Given the description of an element on the screen output the (x, y) to click on. 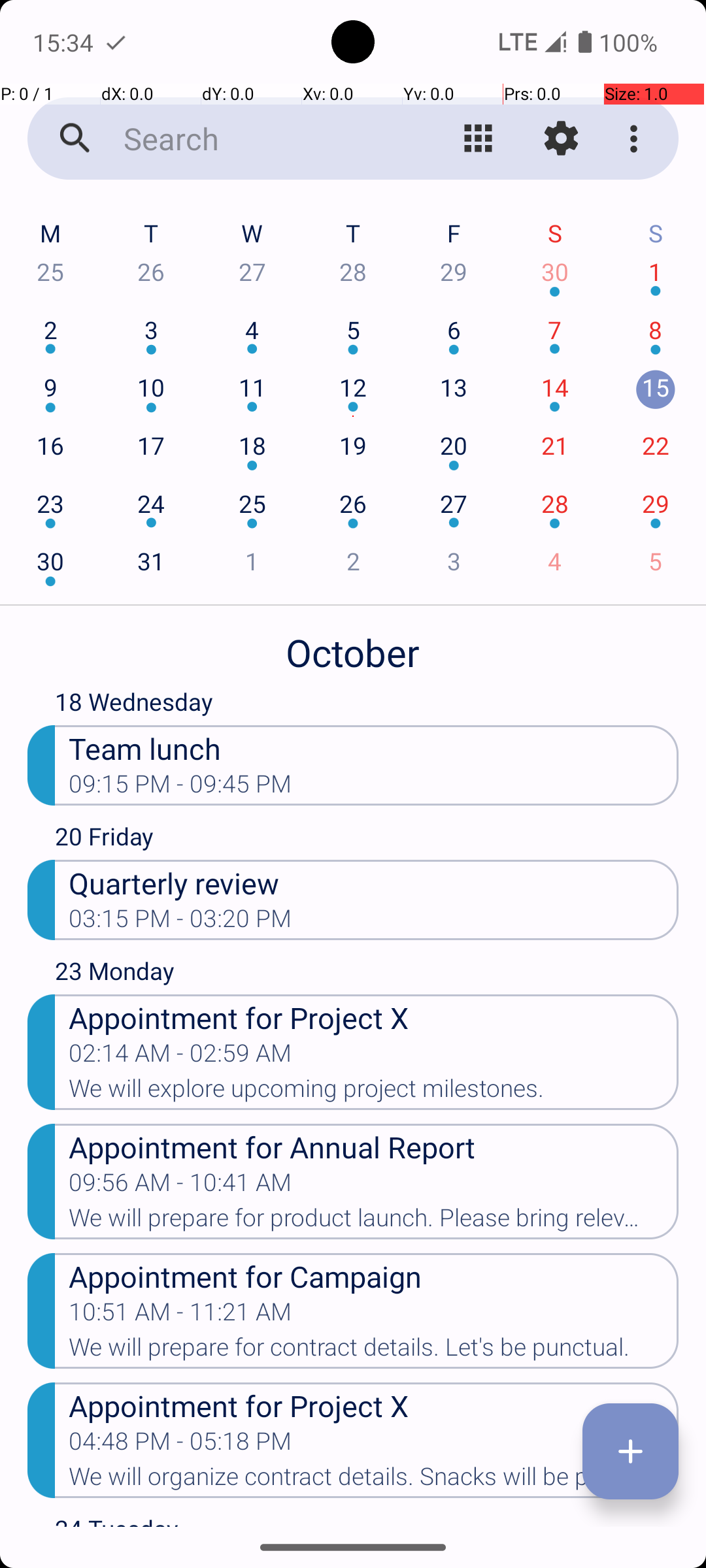
Team lunch Element type: android.widget.TextView (373, 747)
09:15 PM - 09:45 PM Element type: android.widget.TextView (179, 787)
Quarterly review Element type: android.widget.TextView (373, 881)
03:15 PM - 03:20 PM Element type: android.widget.TextView (179, 922)
02:14 AM - 02:59 AM Element type: android.widget.TextView (179, 1056)
We will explore upcoming project milestones. Element type: android.widget.TextView (373, 1092)
09:56 AM - 10:41 AM Element type: android.widget.TextView (179, 1186)
We will prepare for product launch. Please bring relevant documents. Element type: android.widget.TextView (373, 1221)
10:51 AM - 11:21 AM Element type: android.widget.TextView (179, 1315)
We will prepare for contract details. Let's be punctual. Element type: android.widget.TextView (373, 1350)
04:48 PM - 05:18 PM Element type: android.widget.TextView (179, 1444)
We will organize contract details. Snacks will be provided. Element type: android.widget.TextView (373, 1480)
